Given the description of an element on the screen output the (x, y) to click on. 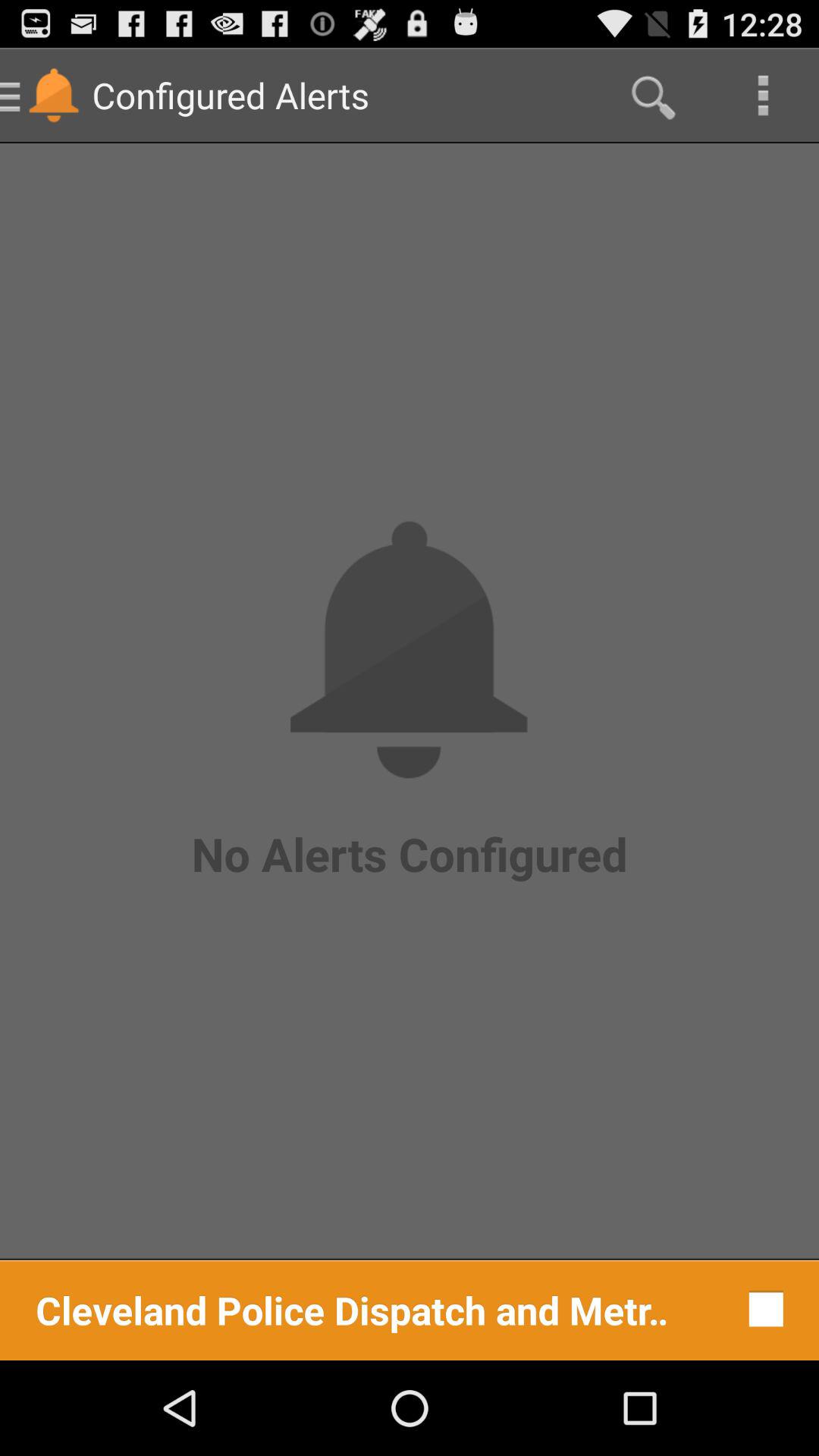
open icon at the bottom (352, 1309)
